Given the description of an element on the screen output the (x, y) to click on. 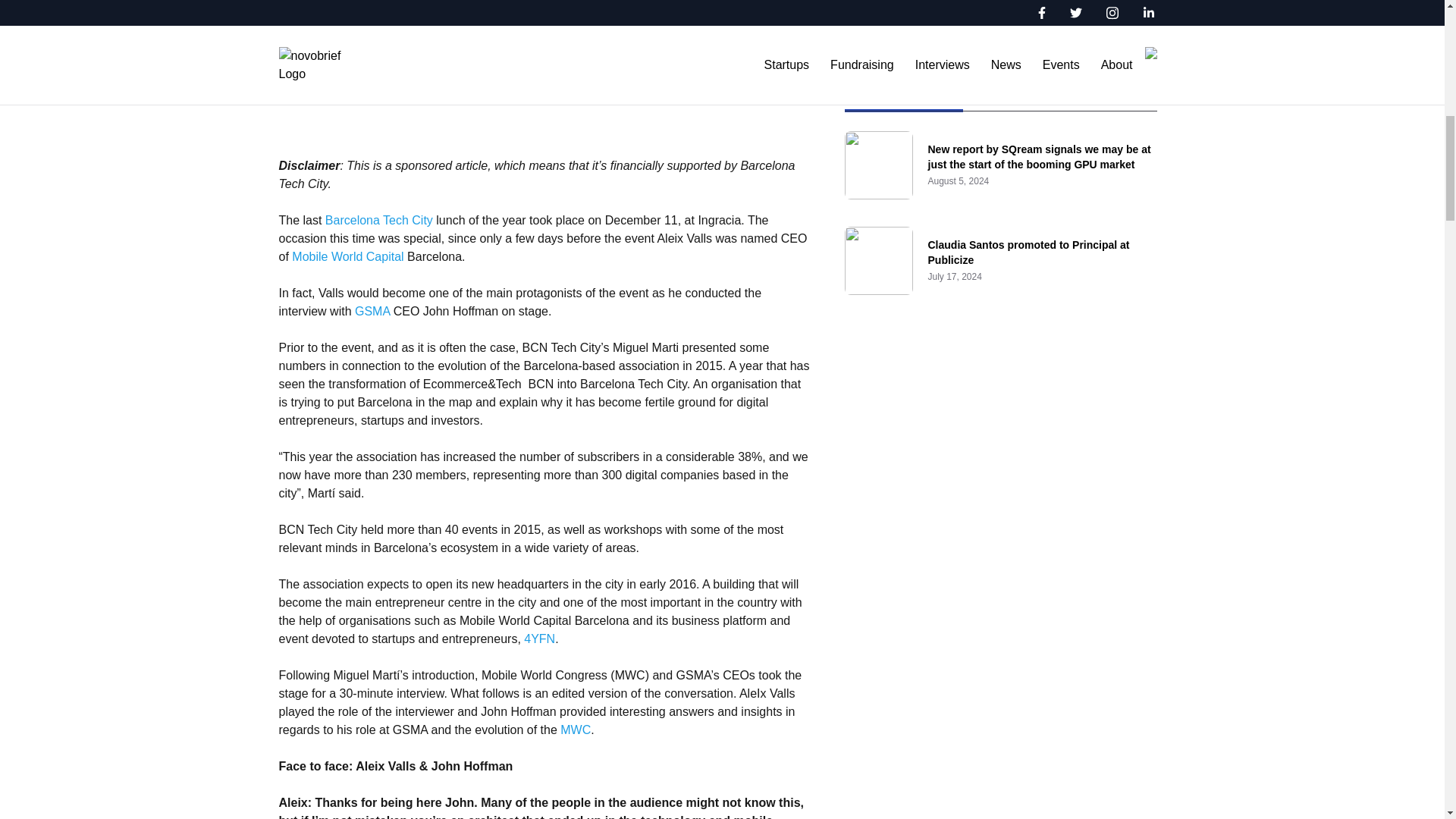
Barcelona Tech City (378, 219)
MWC (575, 729)
GSMA (372, 310)
4YFN (539, 638)
Mobile World Capital (347, 256)
